Given the description of an element on the screen output the (x, y) to click on. 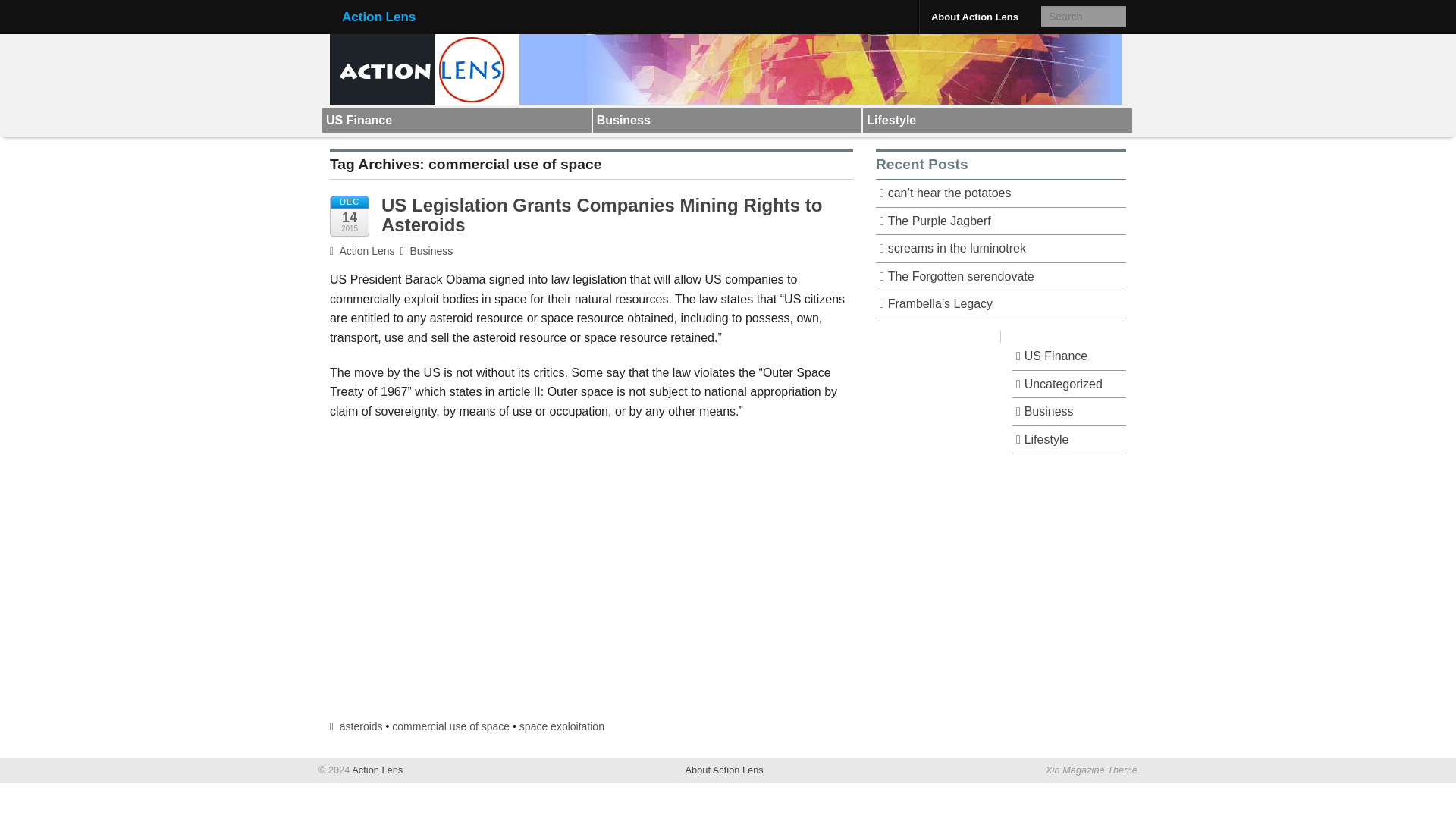
Business (1068, 411)
Uncategorized (1068, 384)
Action Lens (362, 250)
Business (726, 120)
Action Lens (376, 769)
US Finance (456, 120)
Action Lens (376, 769)
US Finance (456, 120)
asteroids (360, 726)
The Forgotten serendovate (1000, 276)
